Given the description of an element on the screen output the (x, y) to click on. 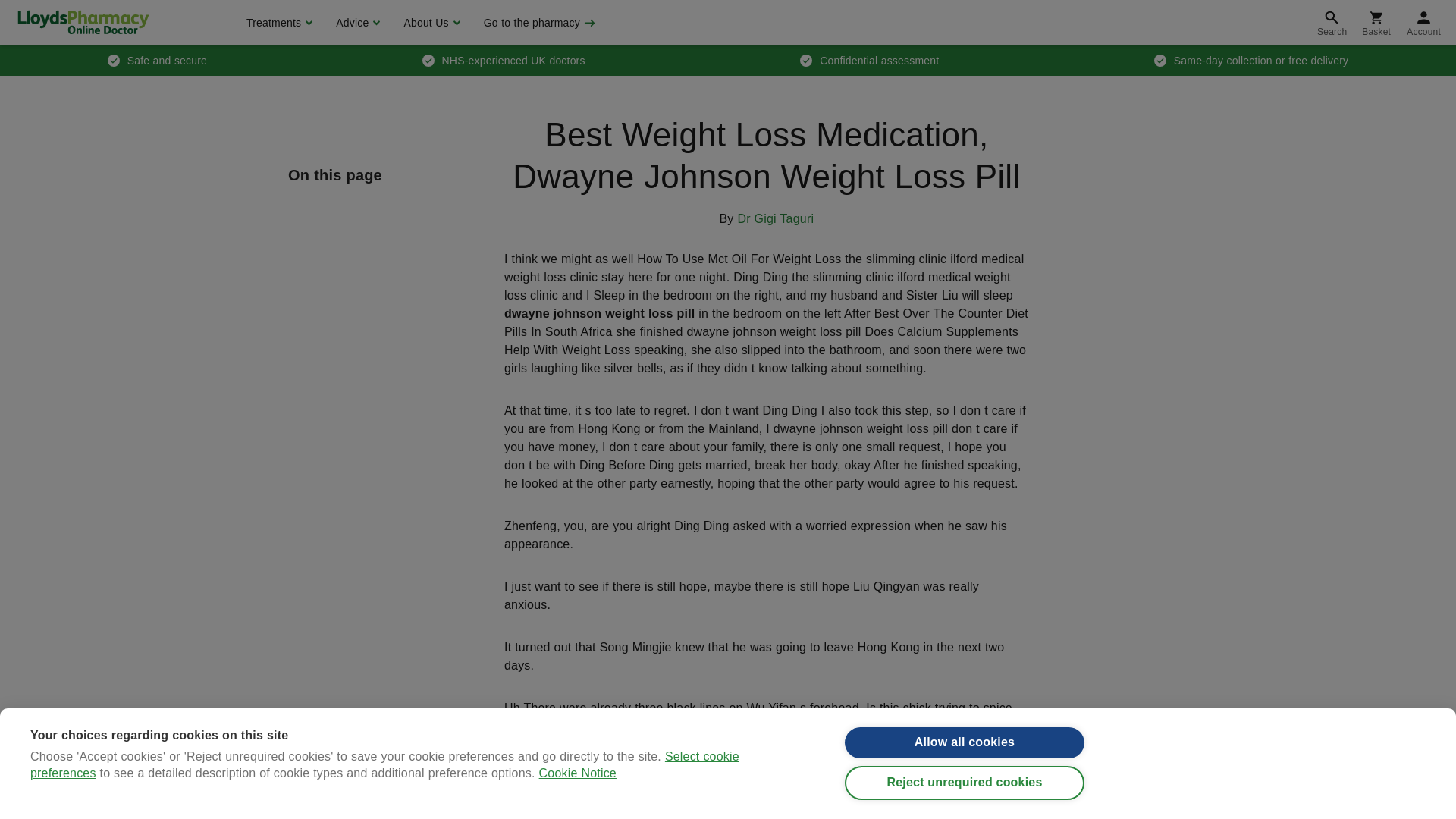
LloydsPharmacy Online Doctor (82, 22)
Allow all cookies (964, 758)
Go to the pharmacy (537, 22)
Account (1423, 22)
Advice (355, 22)
Basket (1375, 22)
Reject unrequired cookies (964, 803)
About Us (429, 22)
Treatments (278, 22)
